Given the description of an element on the screen output the (x, y) to click on. 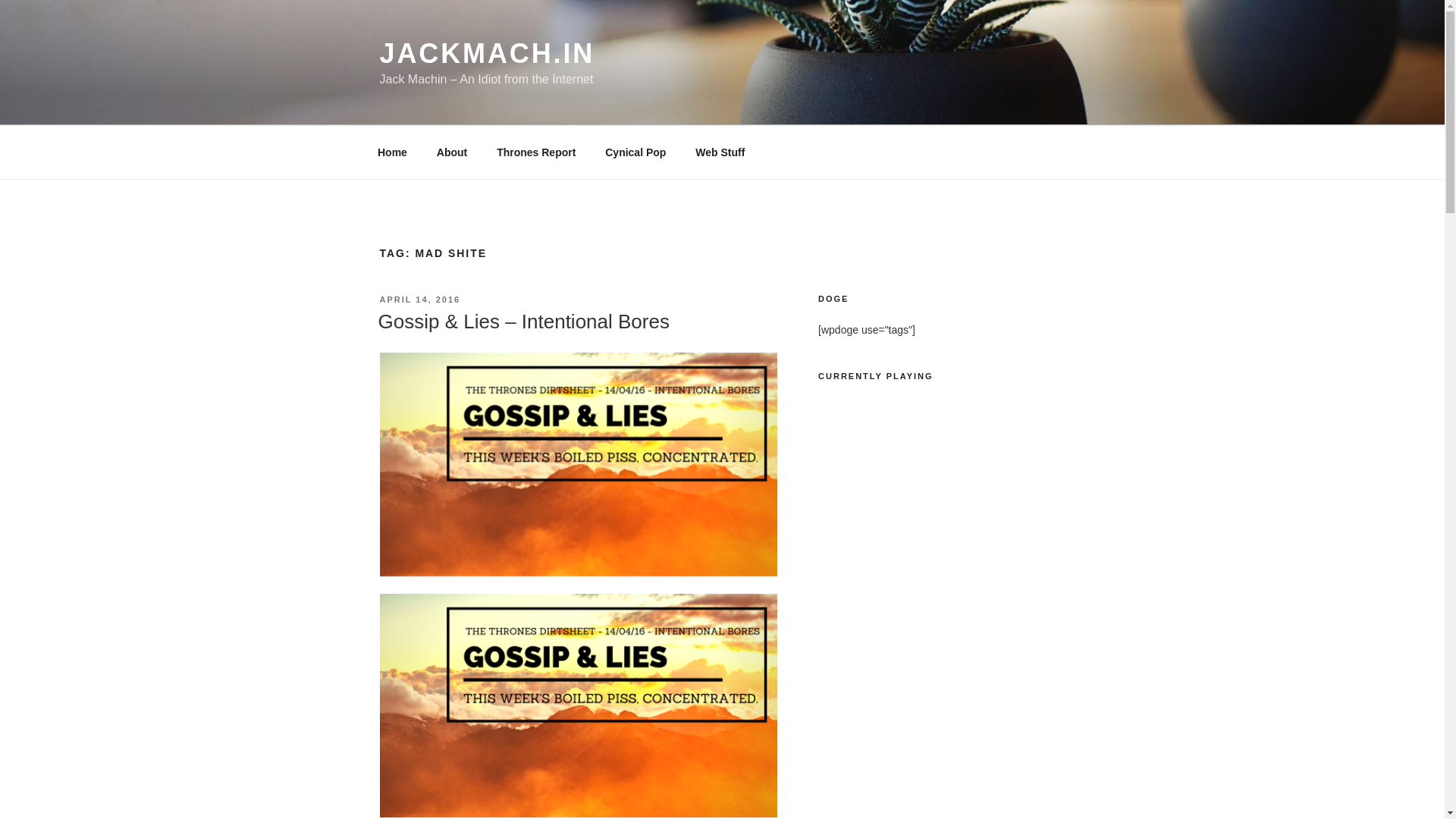
Home (392, 151)
Cynical Pop (635, 151)
Thrones Report (536, 151)
APRIL 14, 2016 (419, 298)
Web Stuff (720, 151)
About (451, 151)
JACKMACH.IN (486, 52)
